Given the description of an element on the screen output the (x, y) to click on. 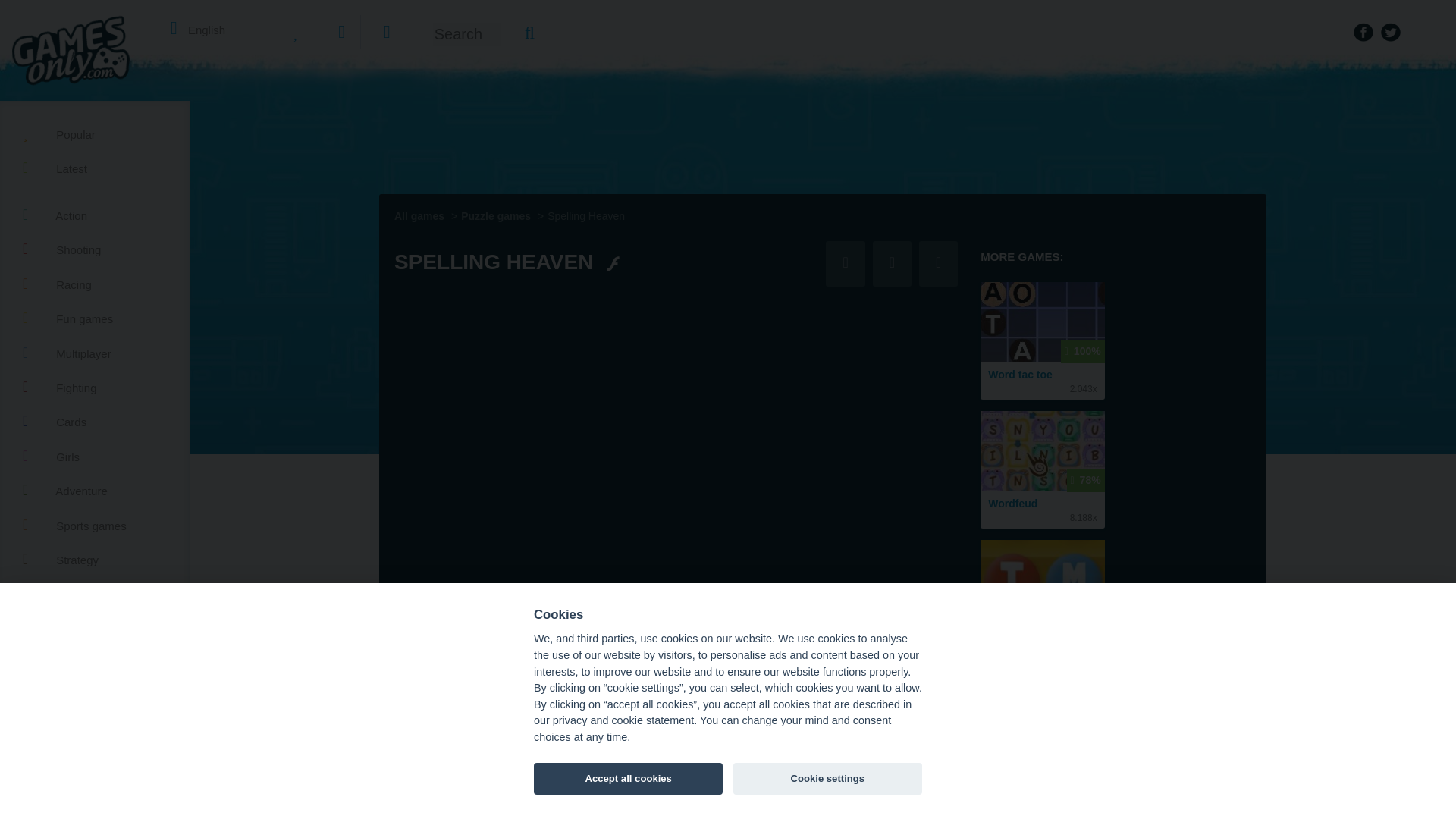
Multiplayer (95, 352)
Negotiation (101, 751)
Adventure (95, 488)
Castle (106, 788)
Girls (95, 455)
Bratz (42, 751)
Bowling (49, 714)
Puzzle (95, 592)
Racing (95, 282)
Pinball (103, 714)
Advertisement (746, 136)
Dora (41, 816)
